Given the description of an element on the screen output the (x, y) to click on. 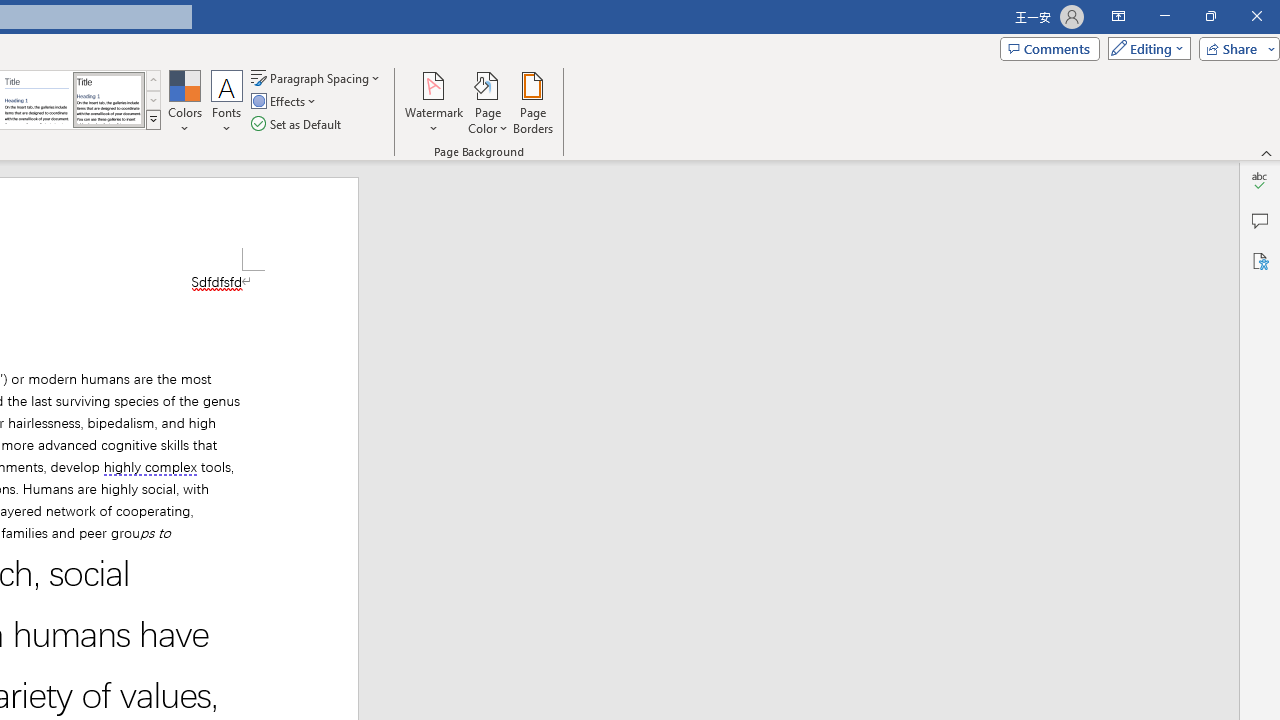
Effects (285, 101)
Accessibility (1260, 260)
Watermark (434, 102)
Colors (184, 102)
Word 2013 (108, 100)
